Given the description of an element on the screen output the (x, y) to click on. 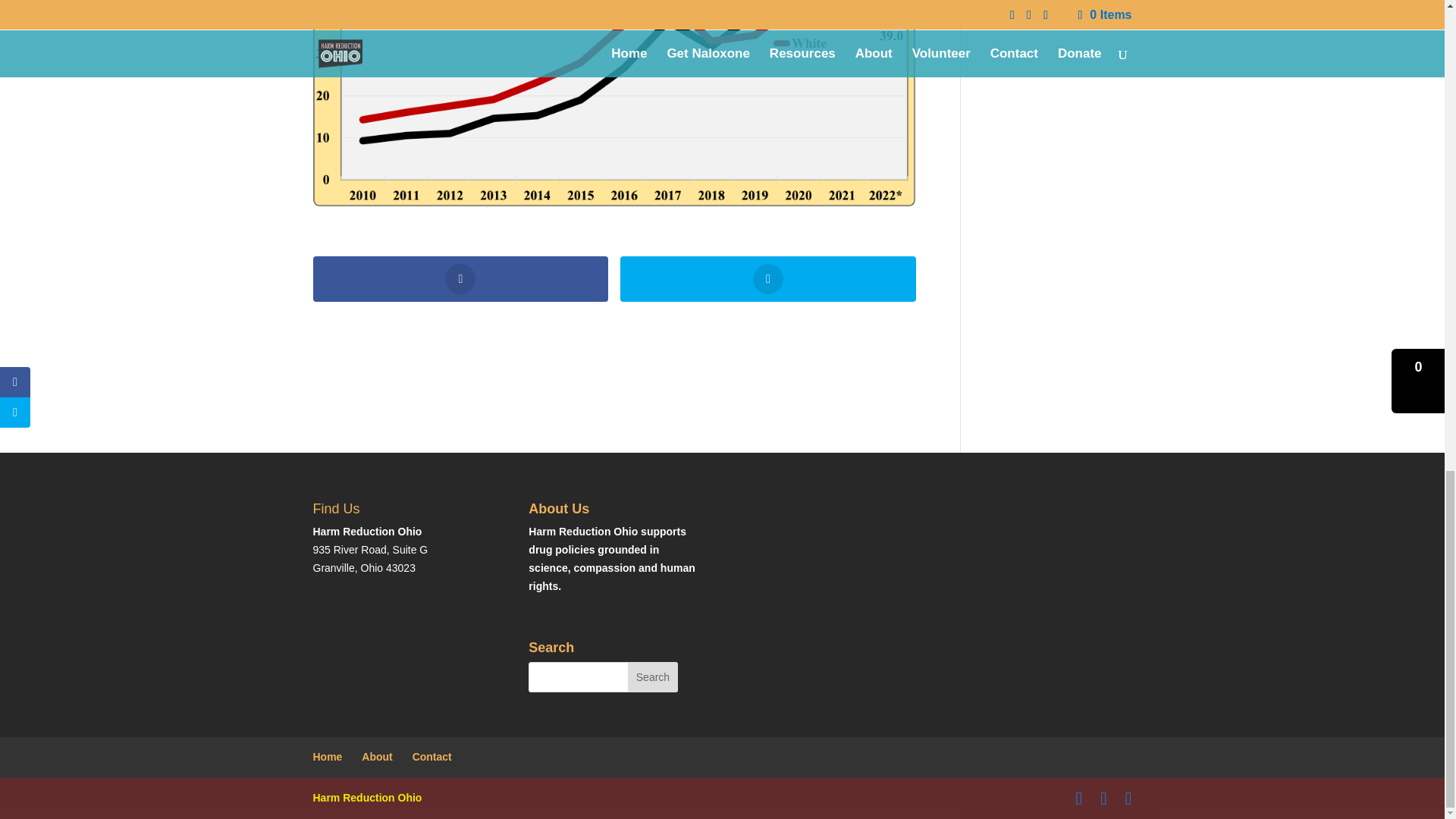
Search (652, 676)
Contact (431, 756)
Home (327, 756)
Search (652, 676)
About (376, 756)
